Given the description of an element on the screen output the (x, y) to click on. 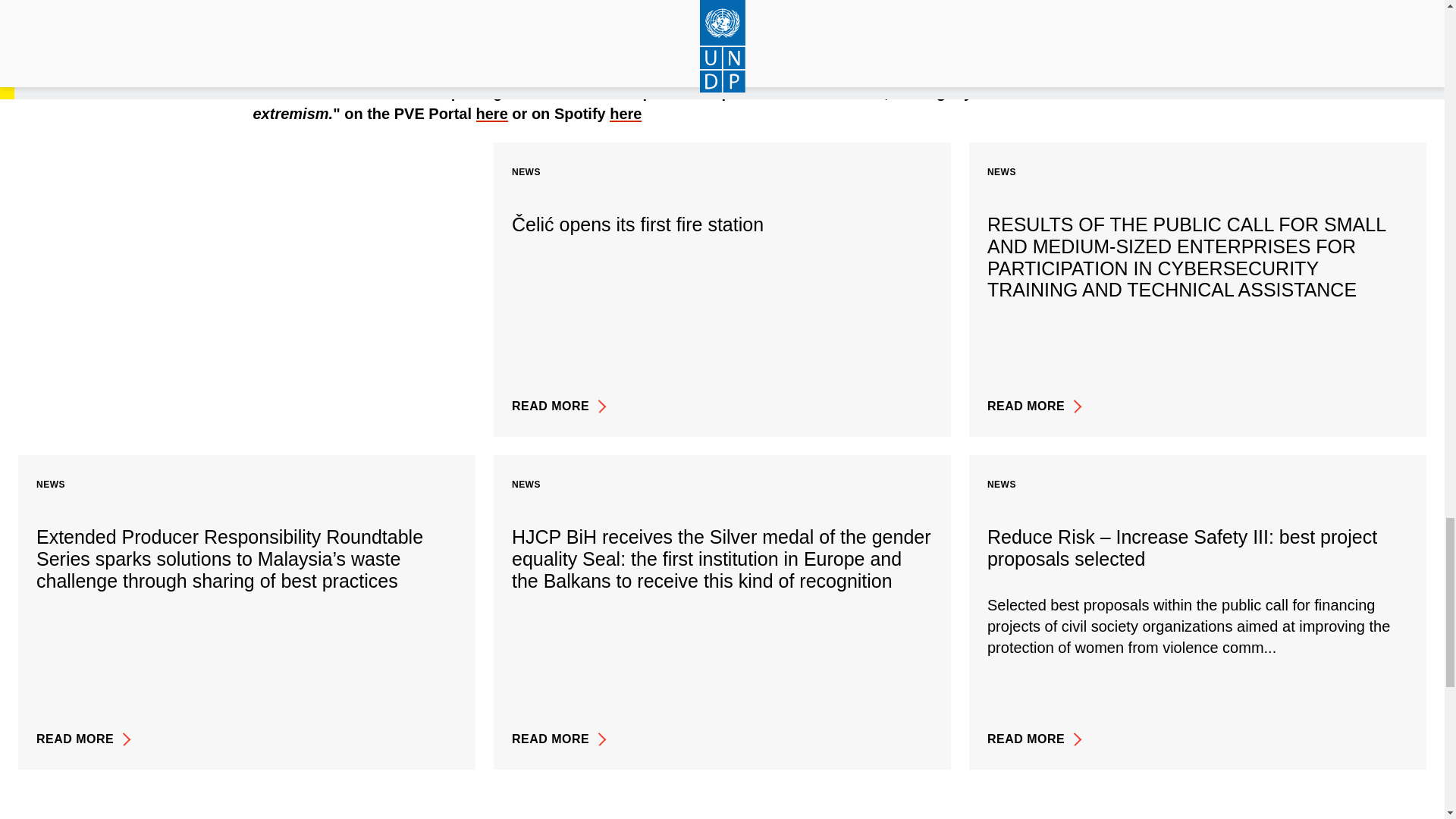
here (626, 113)
here (492, 113)
